Given the description of an element on the screen output the (x, y) to click on. 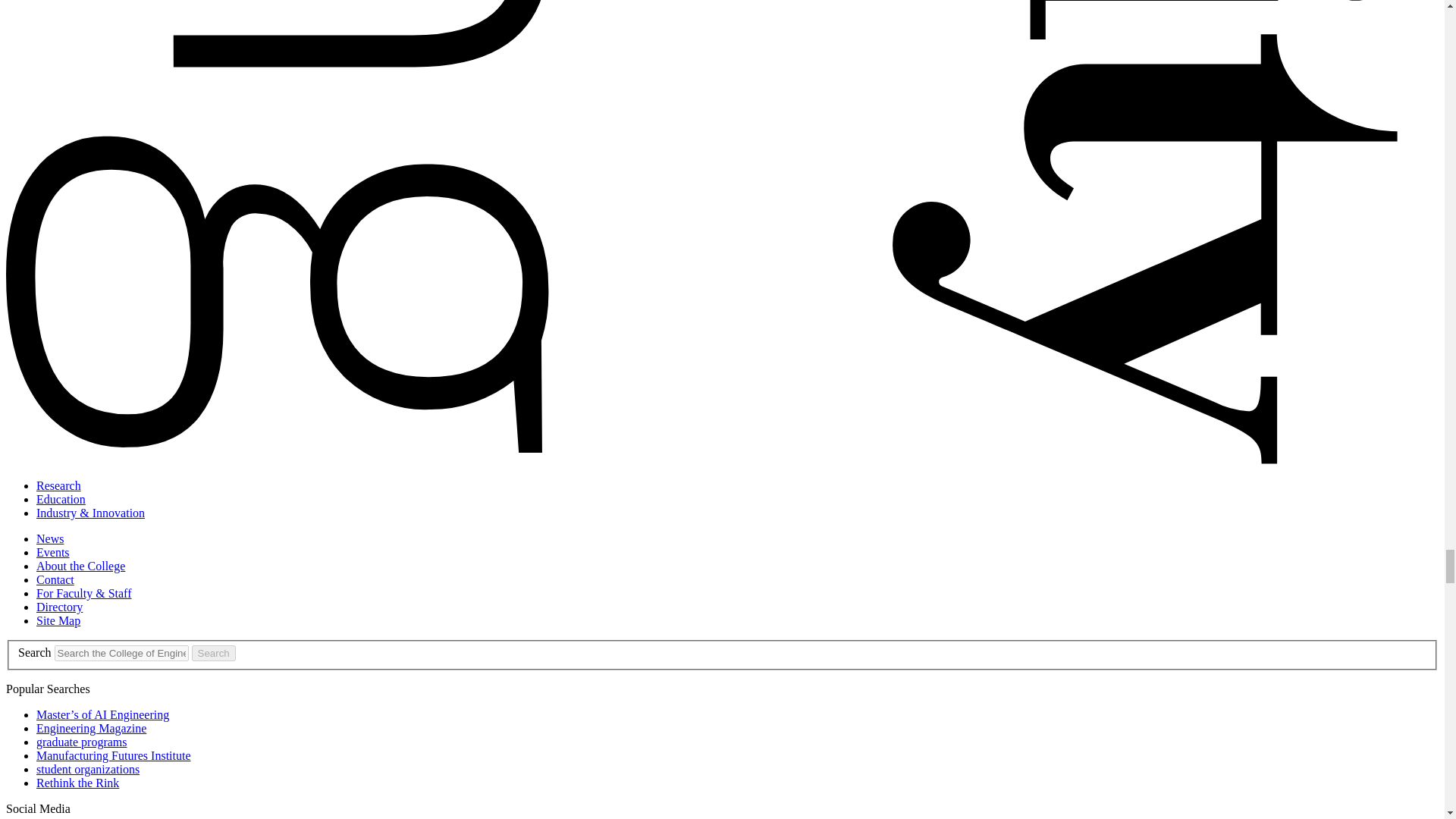
Rethink the Rink (77, 782)
student organizations (87, 768)
Manufacturing Futures Institute (113, 755)
Site Map (58, 620)
Events (52, 552)
News (50, 538)
About the College (80, 565)
Directory (59, 606)
Contact (55, 579)
graduate programs (82, 741)
Search (213, 652)
Education (60, 499)
Engineering Magazine (91, 727)
Research (58, 485)
